Given the description of an element on the screen output the (x, y) to click on. 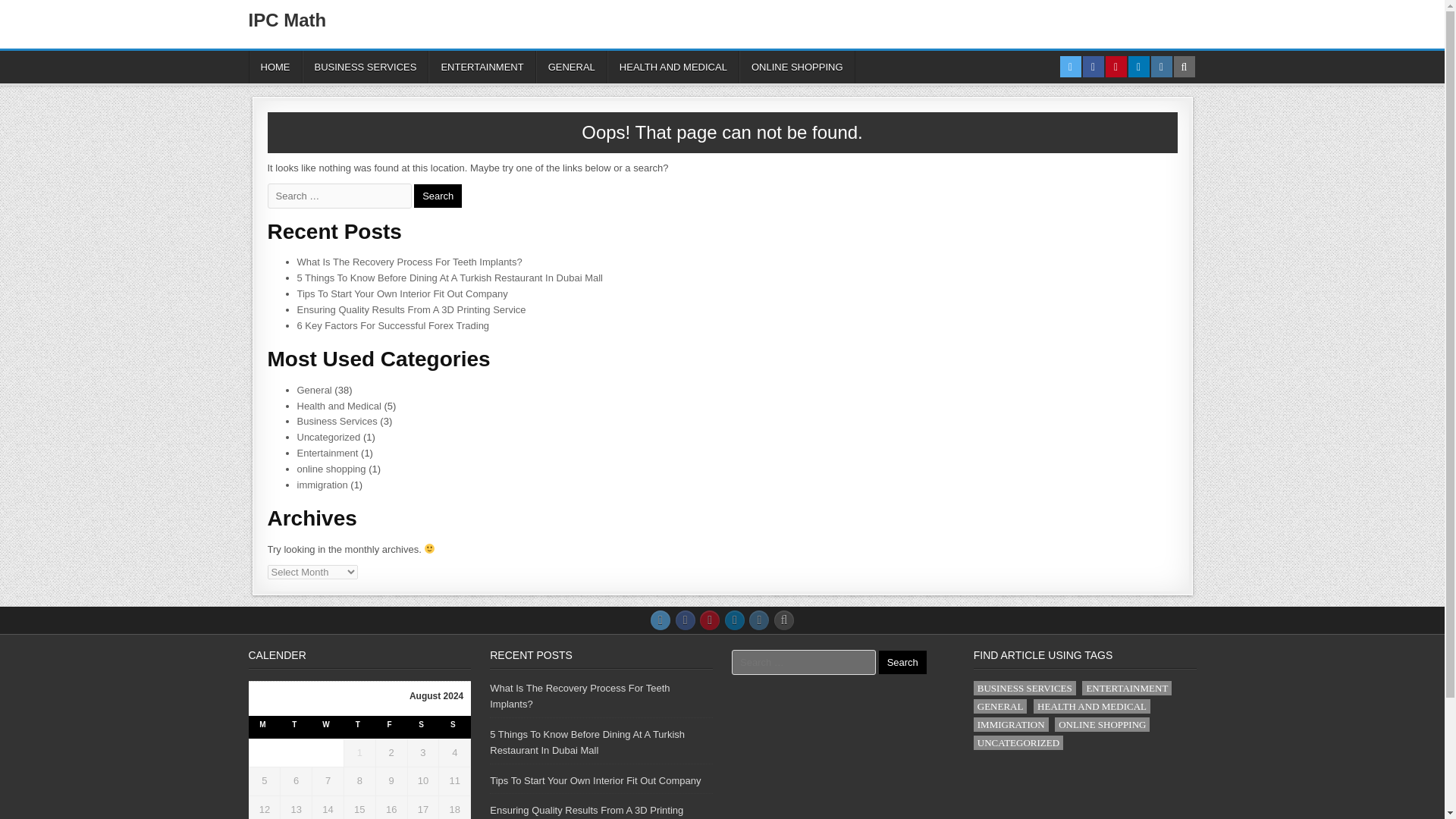
Tips To Start Your Own Interior Fit Out Company (402, 293)
immigration (322, 484)
Search (437, 196)
BUSINESS SERVICES (364, 66)
ENTERTAINMENT (481, 66)
General (314, 389)
Health and Medical (339, 405)
ONLINE SHOPPING (797, 66)
Uncategorized (329, 437)
Tuesday (297, 727)
